Given the description of an element on the screen output the (x, y) to click on. 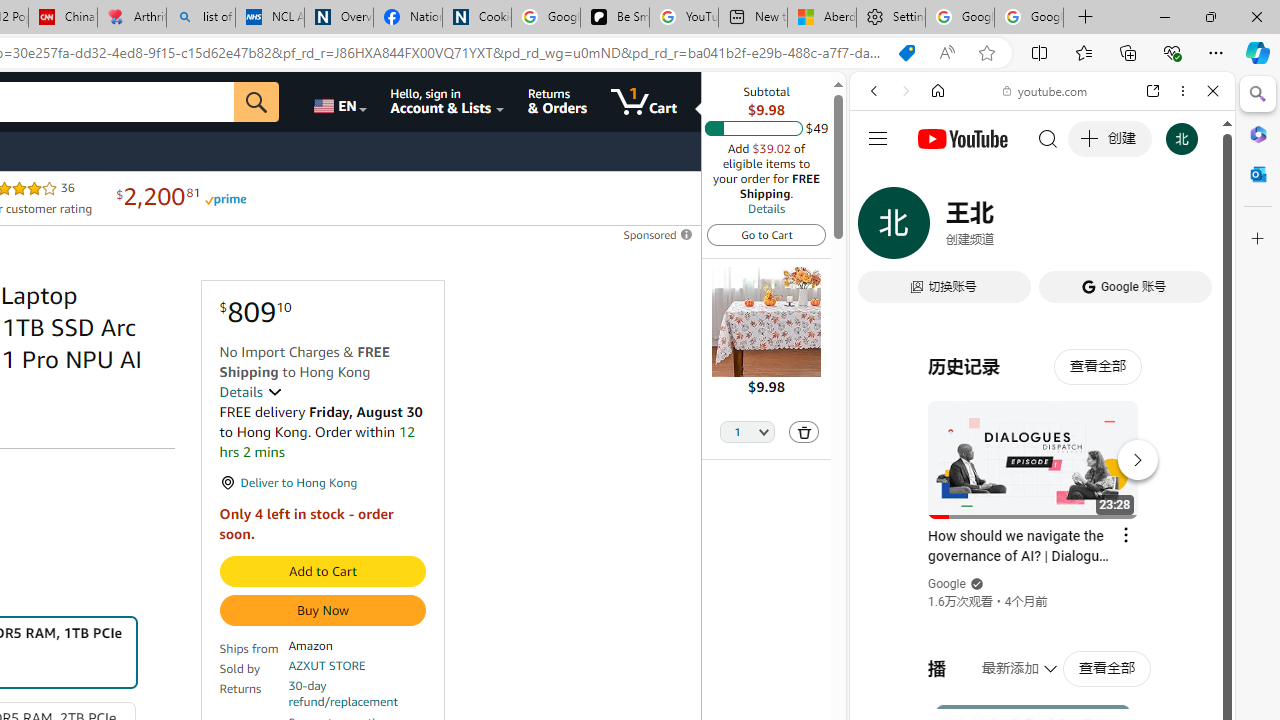
AZXUT STORE (327, 665)
Cookies (476, 17)
Returns & Orders (557, 101)
